Given the description of an element on the screen output the (x, y) to click on. 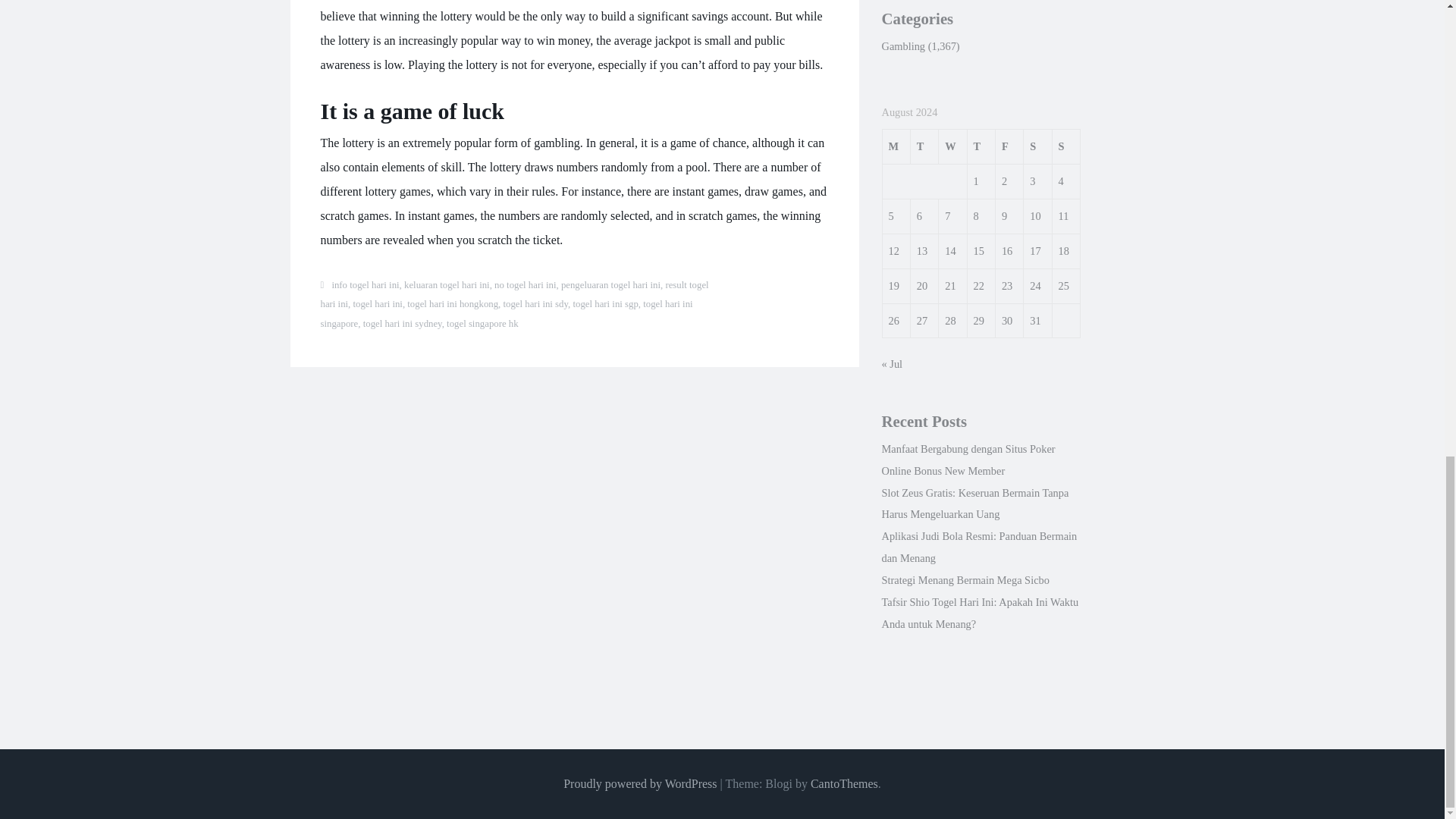
togel hari ini (378, 303)
info togel hari ini (364, 285)
togel hari ini singapore (506, 313)
no togel hari ini (525, 285)
togel hari ini sdy (536, 303)
togel hari ini hongkong (452, 303)
result togel hari ini (513, 295)
togel hari ini sgp (604, 303)
pengeluaran togel hari ini (610, 285)
togel hari ini sydney (402, 323)
keluaran togel hari ini (446, 285)
togel singapore hk (482, 323)
